Given the description of an element on the screen output the (x, y) to click on. 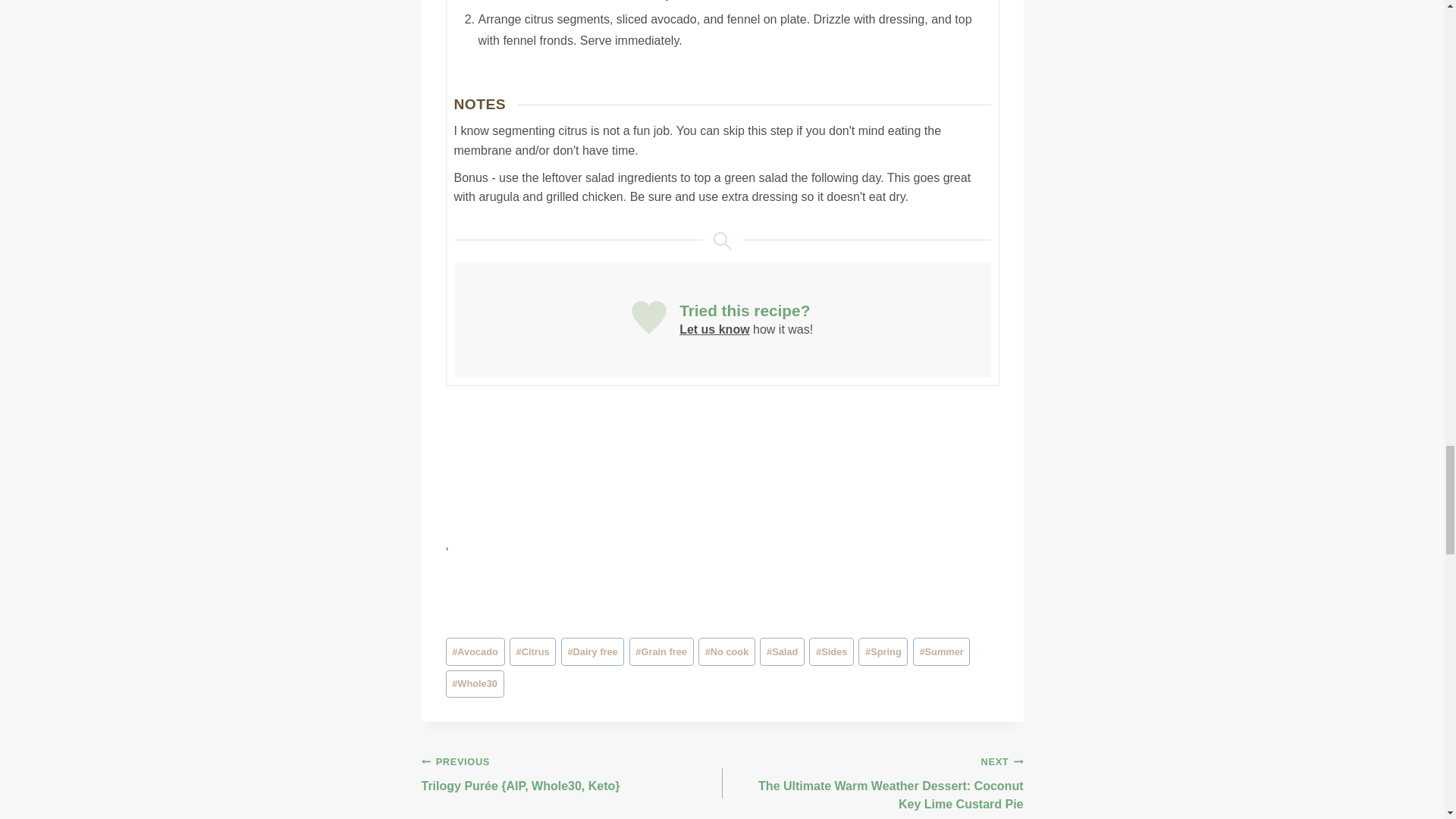
Citrus (532, 651)
Grain free (661, 651)
Salad (782, 651)
Summer (941, 651)
No cook (726, 651)
Spring (883, 651)
Dairy free (592, 651)
Whole30 (474, 683)
Sides (831, 651)
Avocado (475, 651)
